Given the description of an element on the screen output the (x, y) to click on. 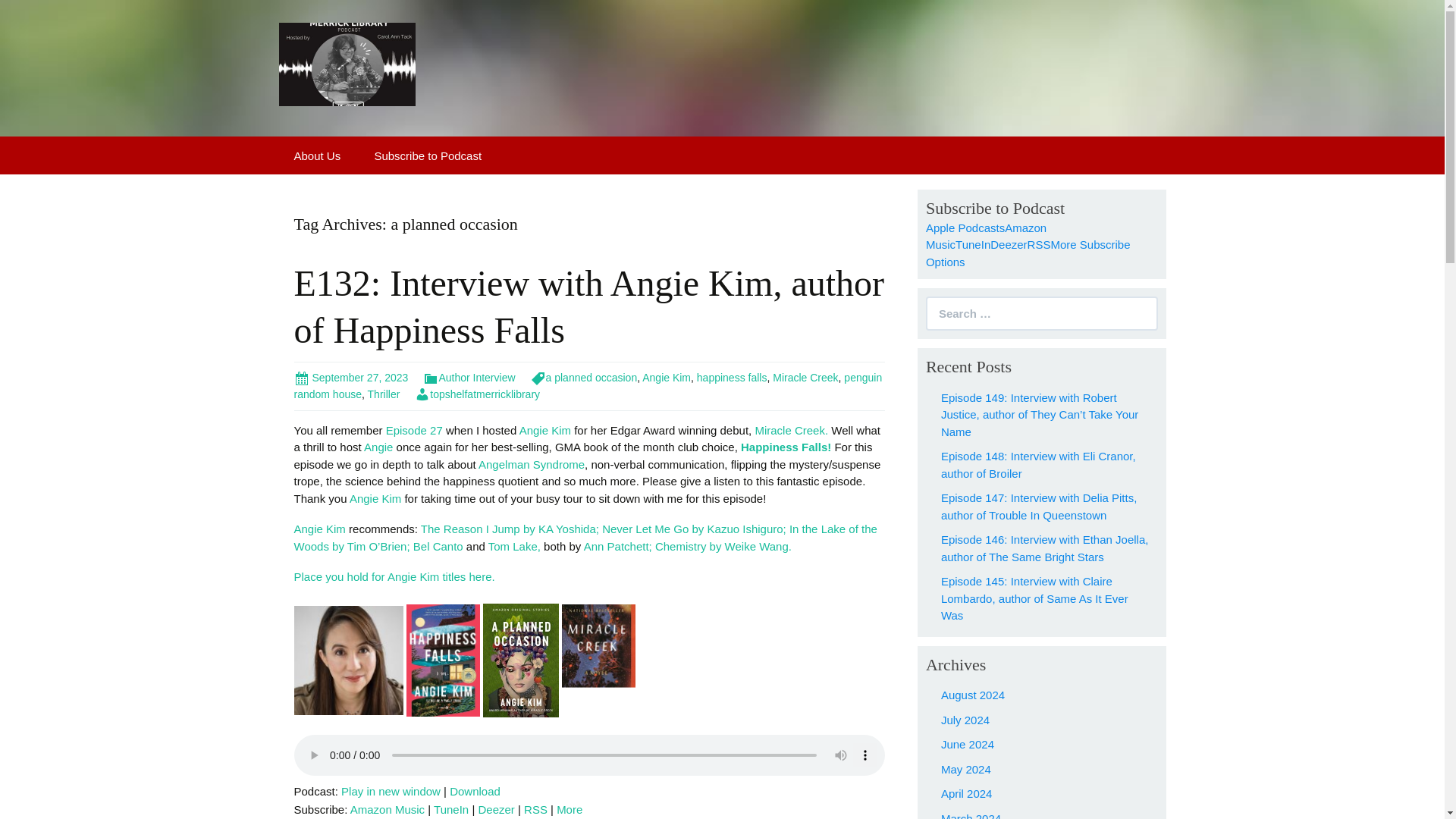
About Us (317, 155)
Subscribe on Deezer (1008, 244)
Play in new window (390, 790)
Subscribe on Apple Podcasts (965, 227)
Place you hold for Angie Kim titles here.  (395, 576)
Tom Lake, (513, 545)
penguin random house (588, 385)
Download (474, 790)
Angie Kim (666, 377)
